Given the description of an element on the screen output the (x, y) to click on. 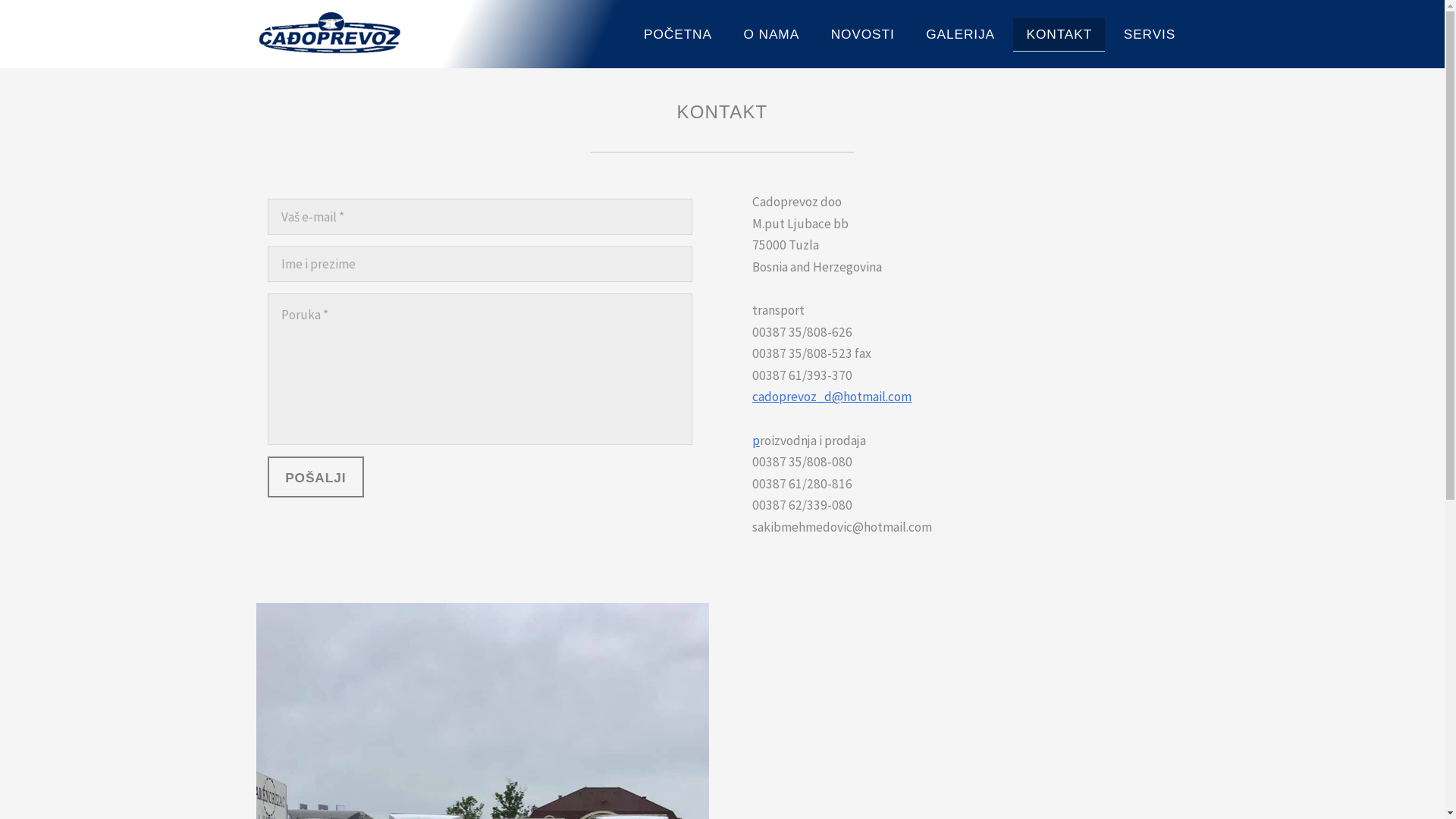
KONTAKT Element type: text (1058, 34)
cadoprevoz_d@hotmail.com

p Element type: text (831, 418)
SERVIS Element type: text (1149, 34)
O NAMA Element type: text (771, 34)
GALERIJA Element type: text (960, 34)
NOVOSTI Element type: text (862, 34)
